Given the description of an element on the screen output the (x, y) to click on. 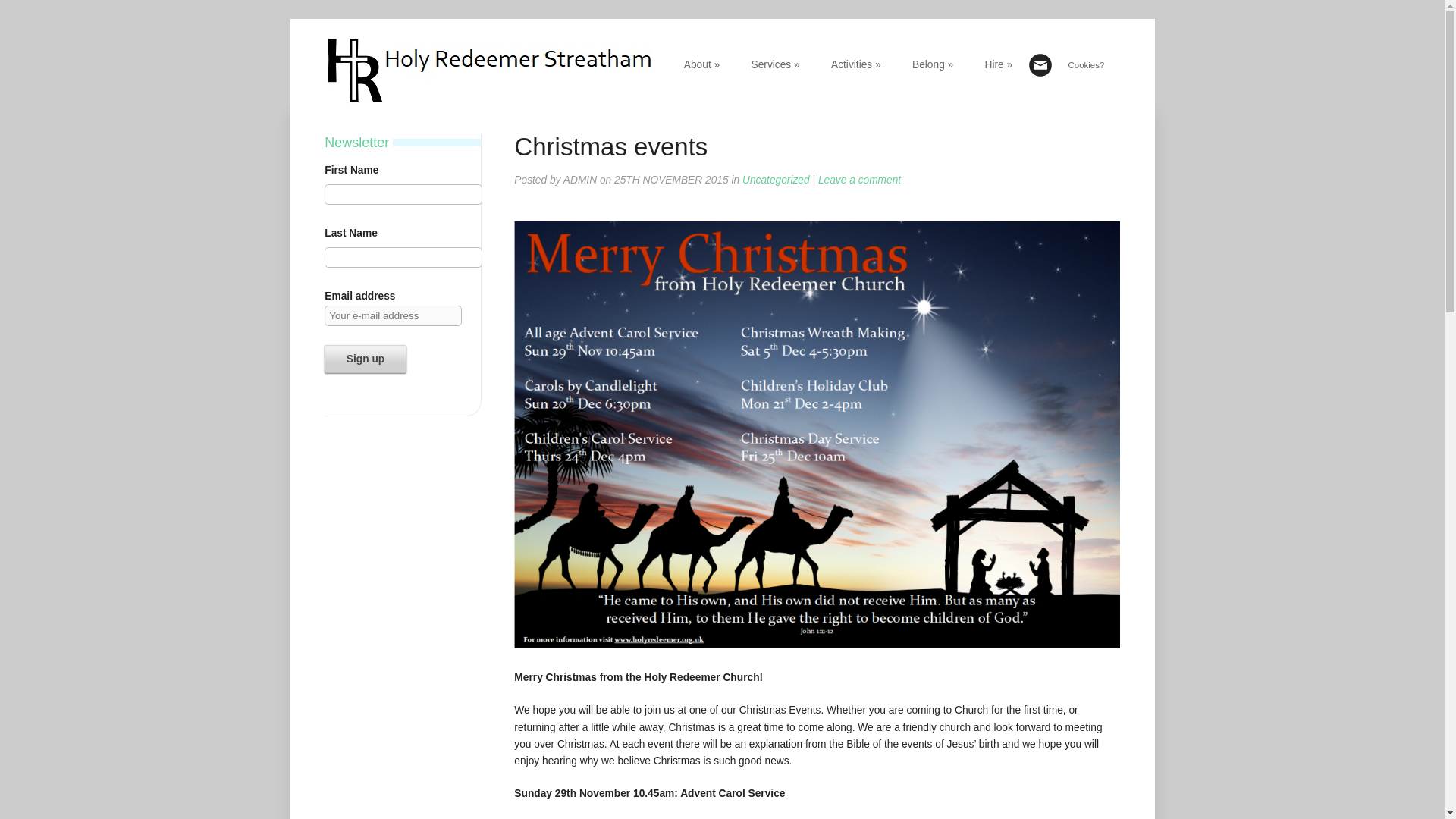
Leave a comment (859, 179)
Cookies? (1085, 64)
Sign up (365, 358)
Uncategorized (775, 179)
Contact  (1055, 71)
Contact Us (1055, 71)
We use cookies. Find out more or opt out (1085, 64)
Home (489, 104)
